Given the description of an element on the screen output the (x, y) to click on. 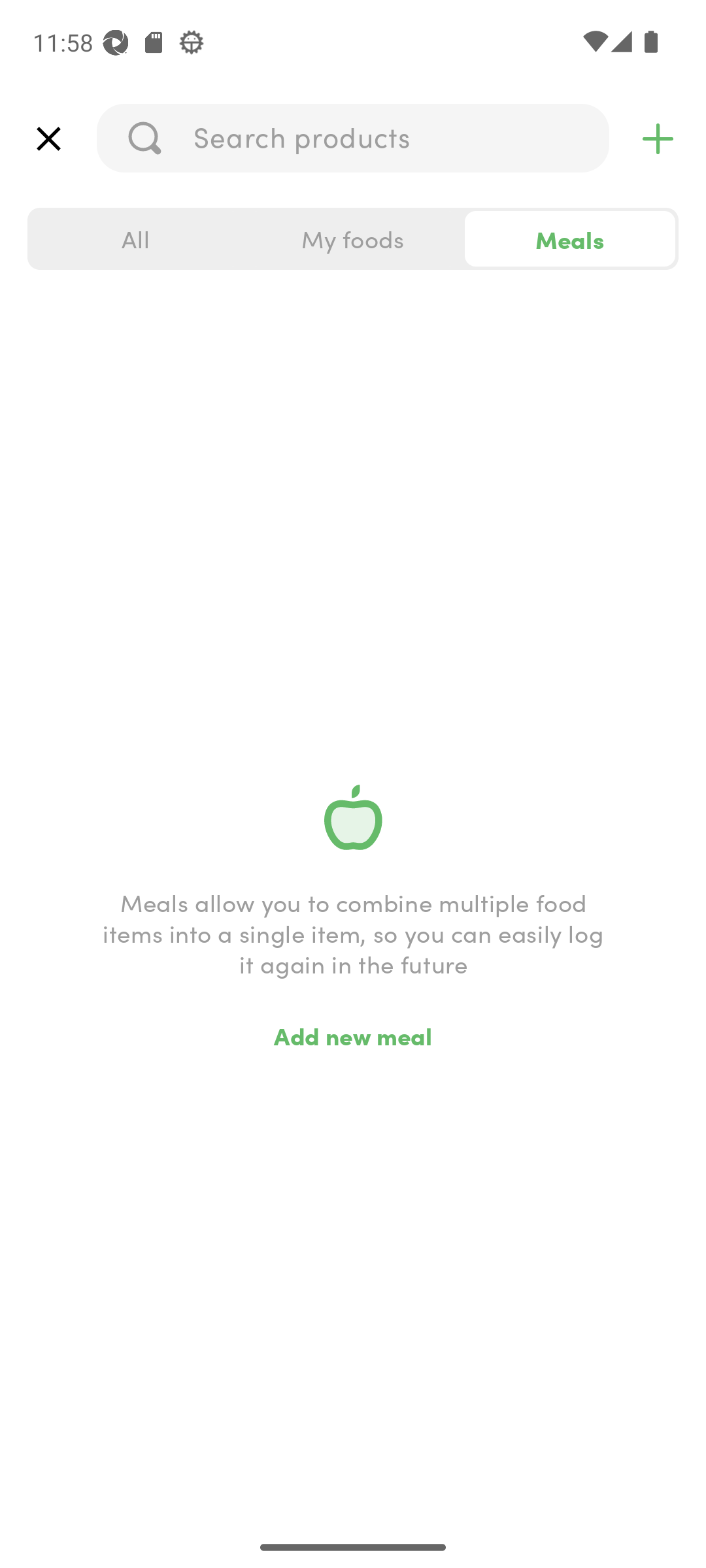
top_left_action (48, 138)
top_right_action (658, 138)
All (136, 238)
My foods (352, 238)
Add new meal (352, 1035)
